Given the description of an element on the screen output the (x, y) to click on. 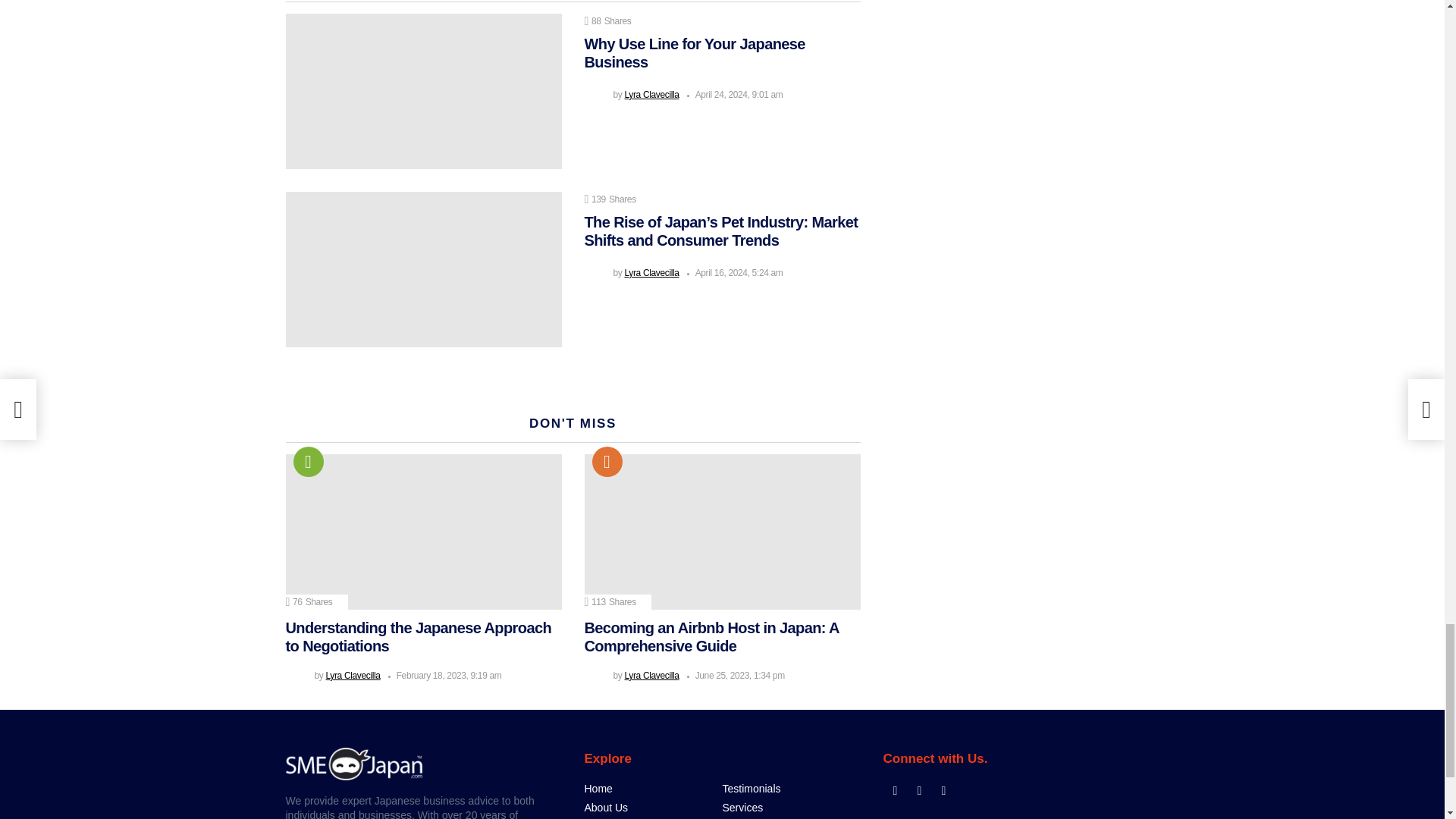
Why Use Line for Your Japanese Business (422, 90)
Understanding the Japanese Approach to Negotiations (422, 531)
Posts by Lyra Clavecilla (352, 675)
Trending (307, 461)
Becoming an Airbnb Host in Japan: A Comprehensive Guide (721, 531)
Posts by Lyra Clavecilla (651, 94)
Posts by Lyra Clavecilla (651, 272)
